Given the description of an element on the screen output the (x, y) to click on. 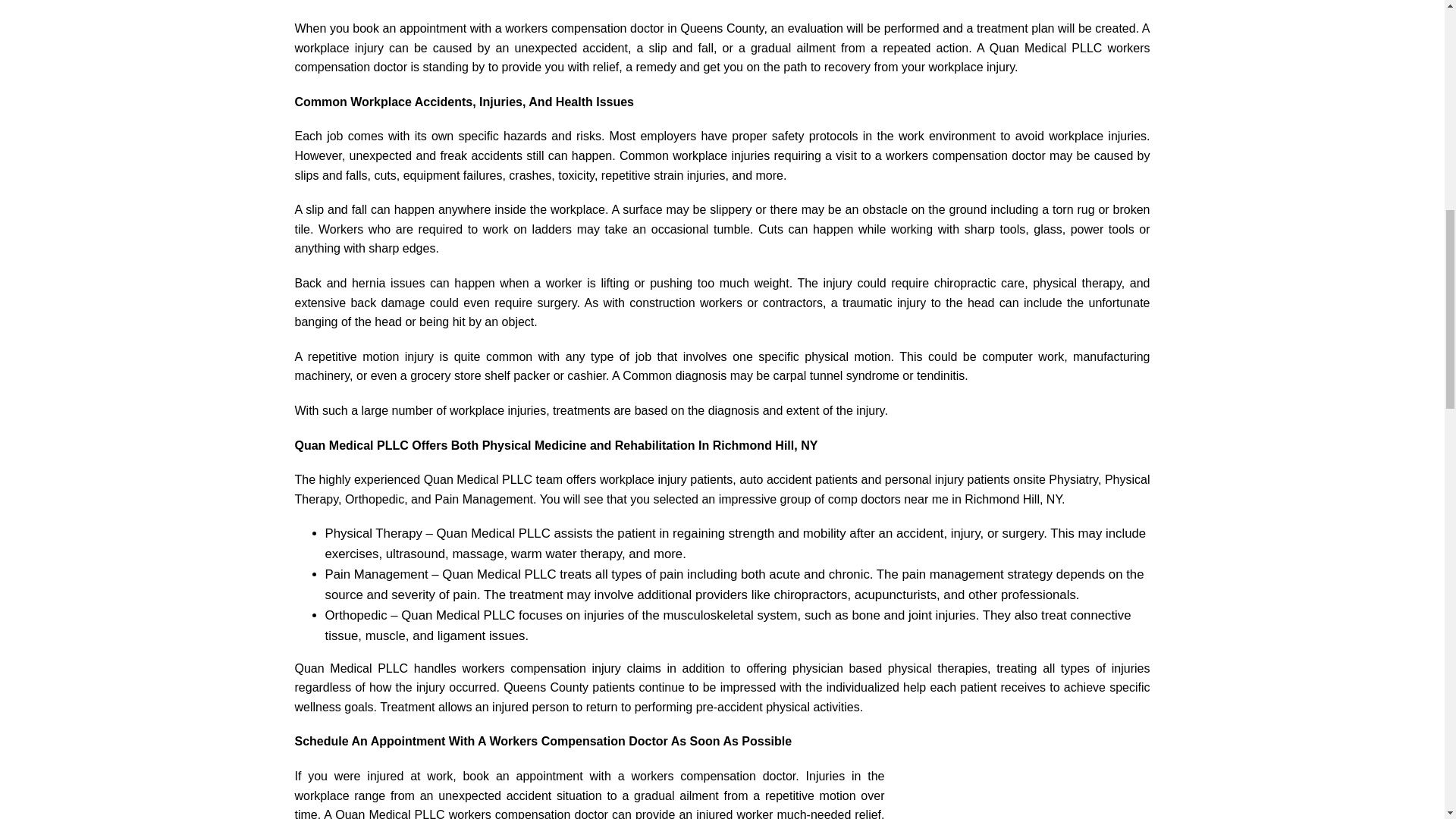
Comp Doctors Near Me in Albertson, NY (1016, 775)
